Given the description of an element on the screen output the (x, y) to click on. 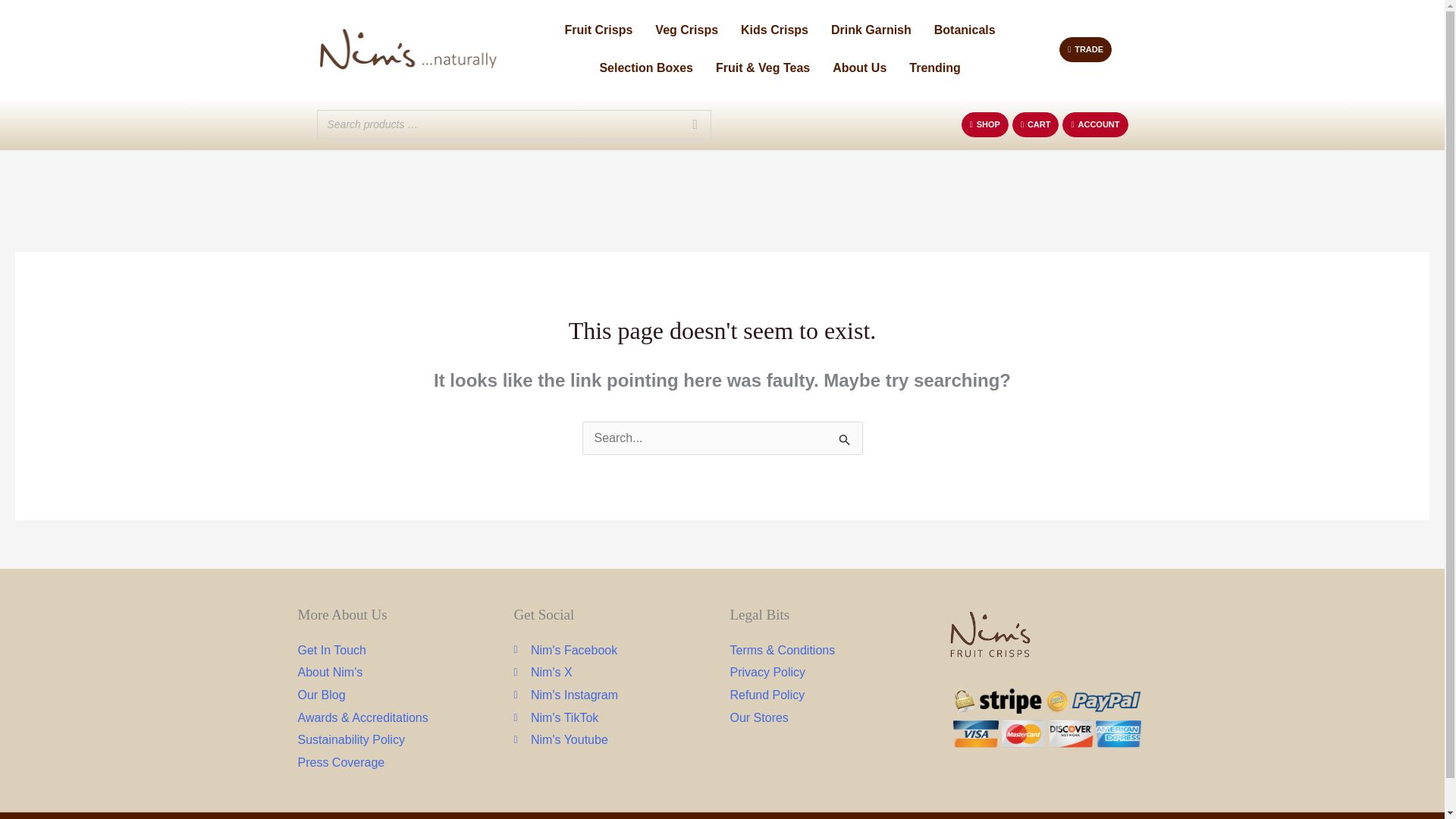
Botanicals (965, 30)
ACCOUNT (1094, 124)
Selection Boxes (646, 67)
Fruit Crisps (599, 30)
Nim's Facebook (613, 650)
Sustainability Policy (397, 739)
CART (1035, 124)
Veg Crisps (686, 30)
Get In Touch (397, 650)
Kids Crisps (774, 30)
